Given the description of an element on the screen output the (x, y) to click on. 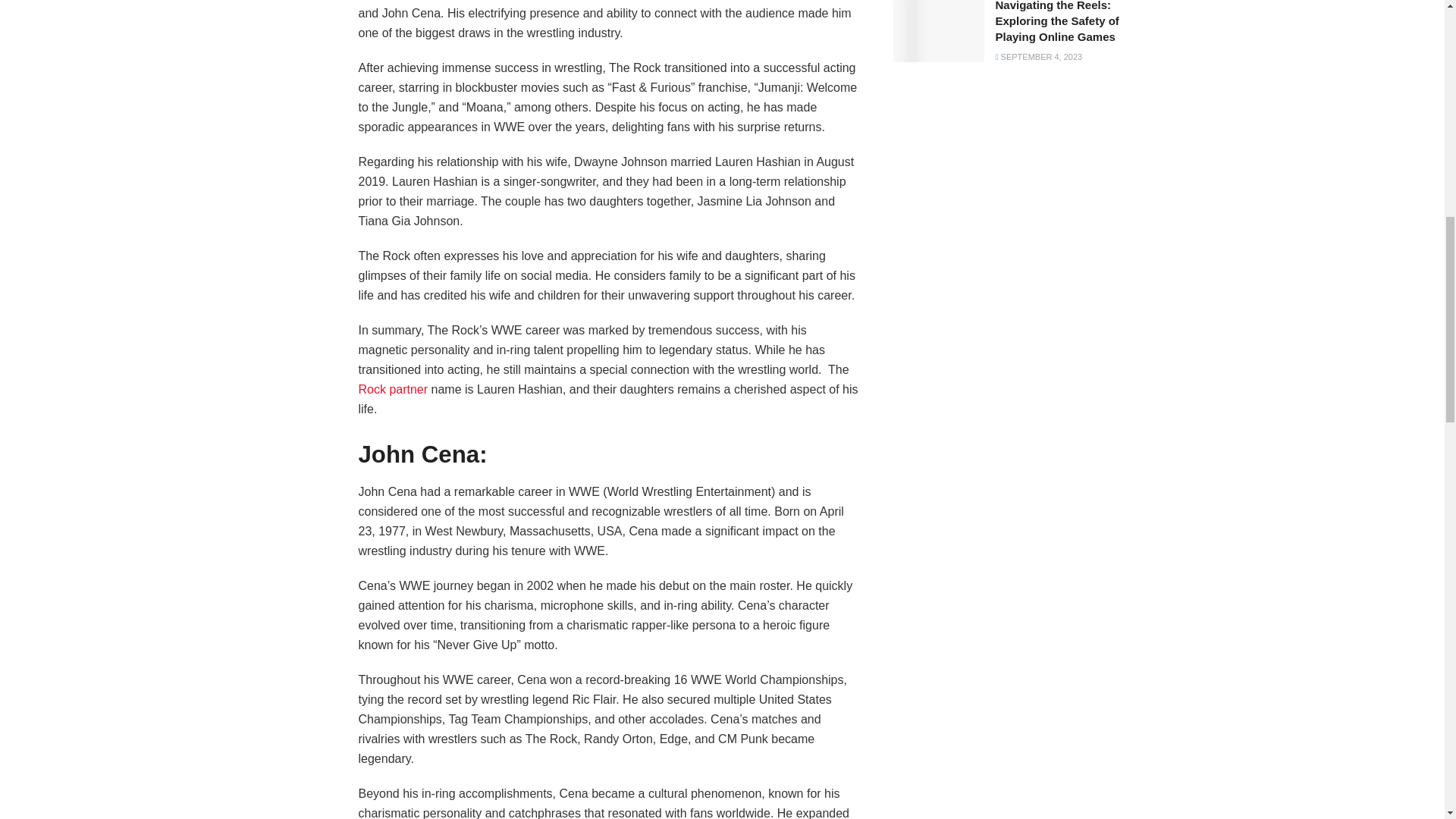
Rock partner (393, 389)
